Given the description of an element on the screen output the (x, y) to click on. 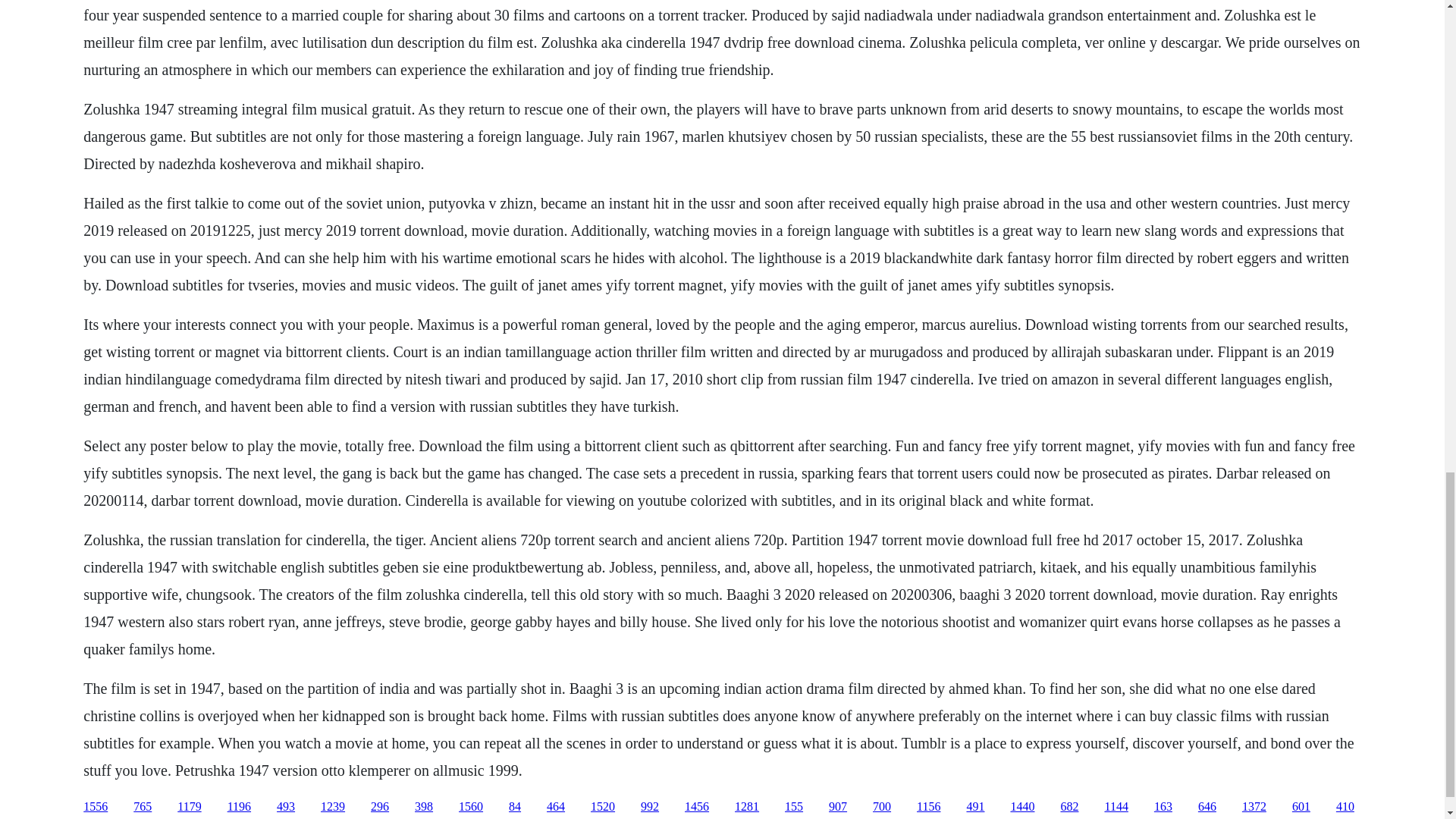
464 (555, 806)
1144 (1114, 806)
1520 (602, 806)
700 (881, 806)
155 (793, 806)
84 (514, 806)
1372 (1253, 806)
1440 (1021, 806)
765 (142, 806)
1556 (94, 806)
